Given the description of an element on the screen output the (x, y) to click on. 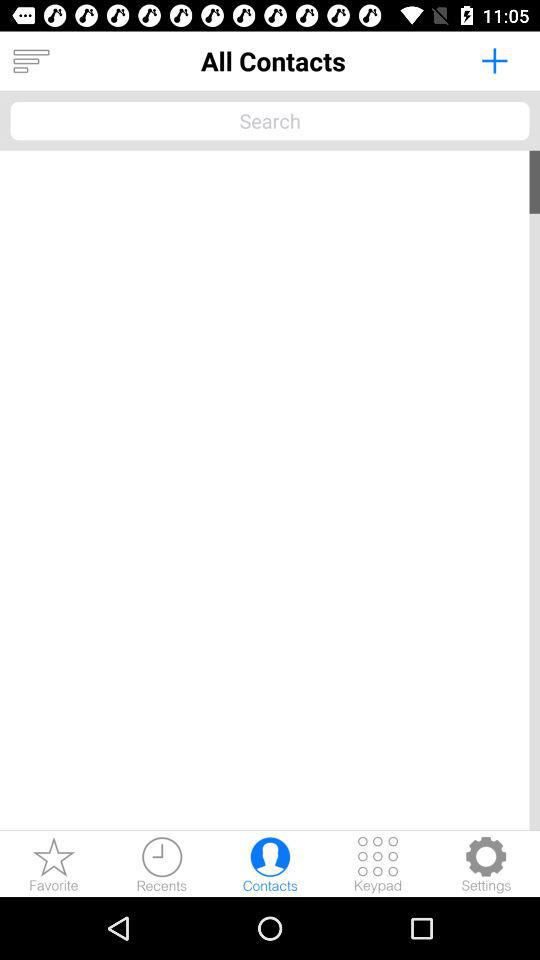
turn off the icon next to all contacts app (31, 61)
